Given the description of an element on the screen output the (x, y) to click on. 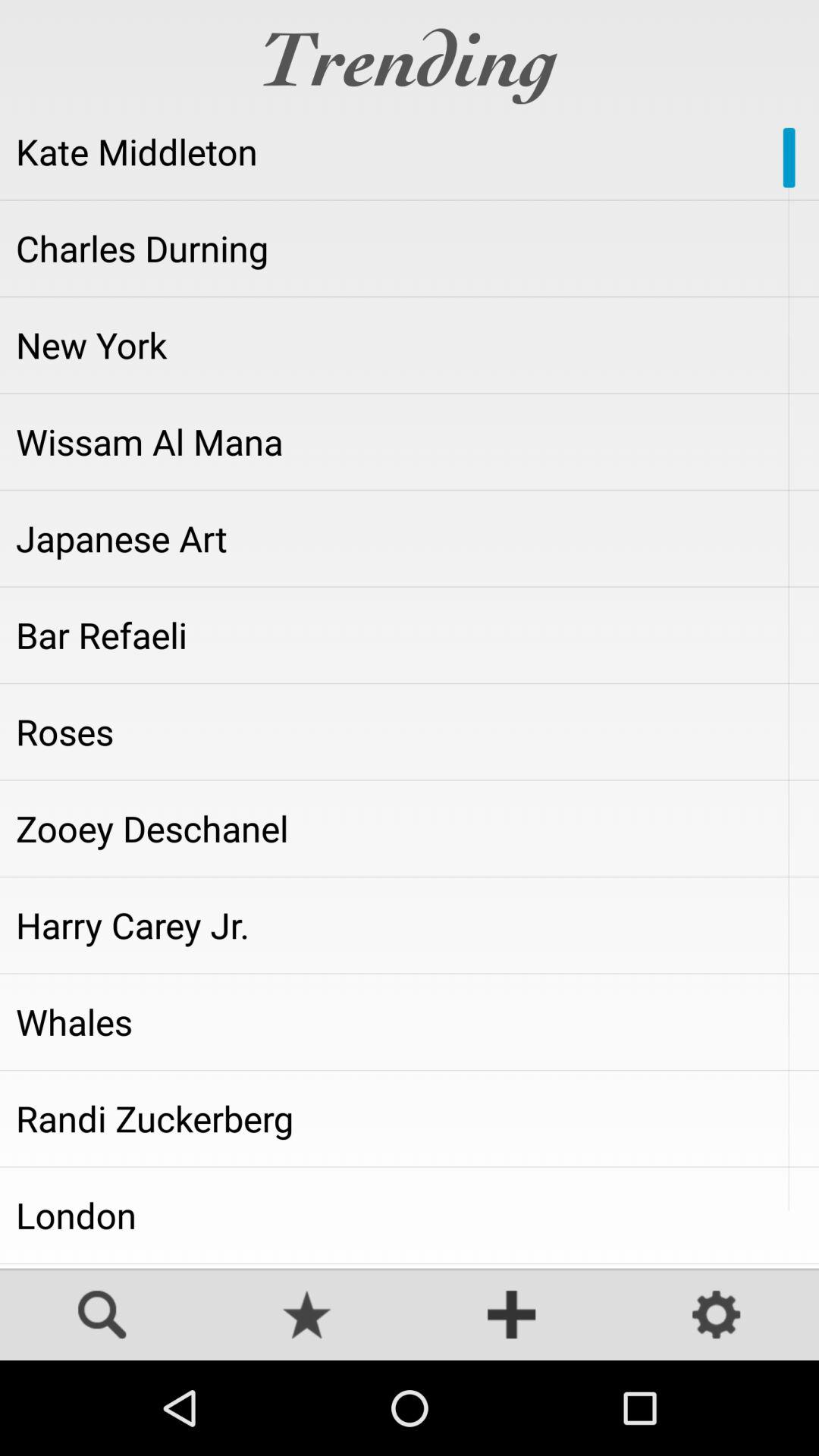
select the icon at the bottom right corner (716, 1316)
